Given the description of an element on the screen output the (x, y) to click on. 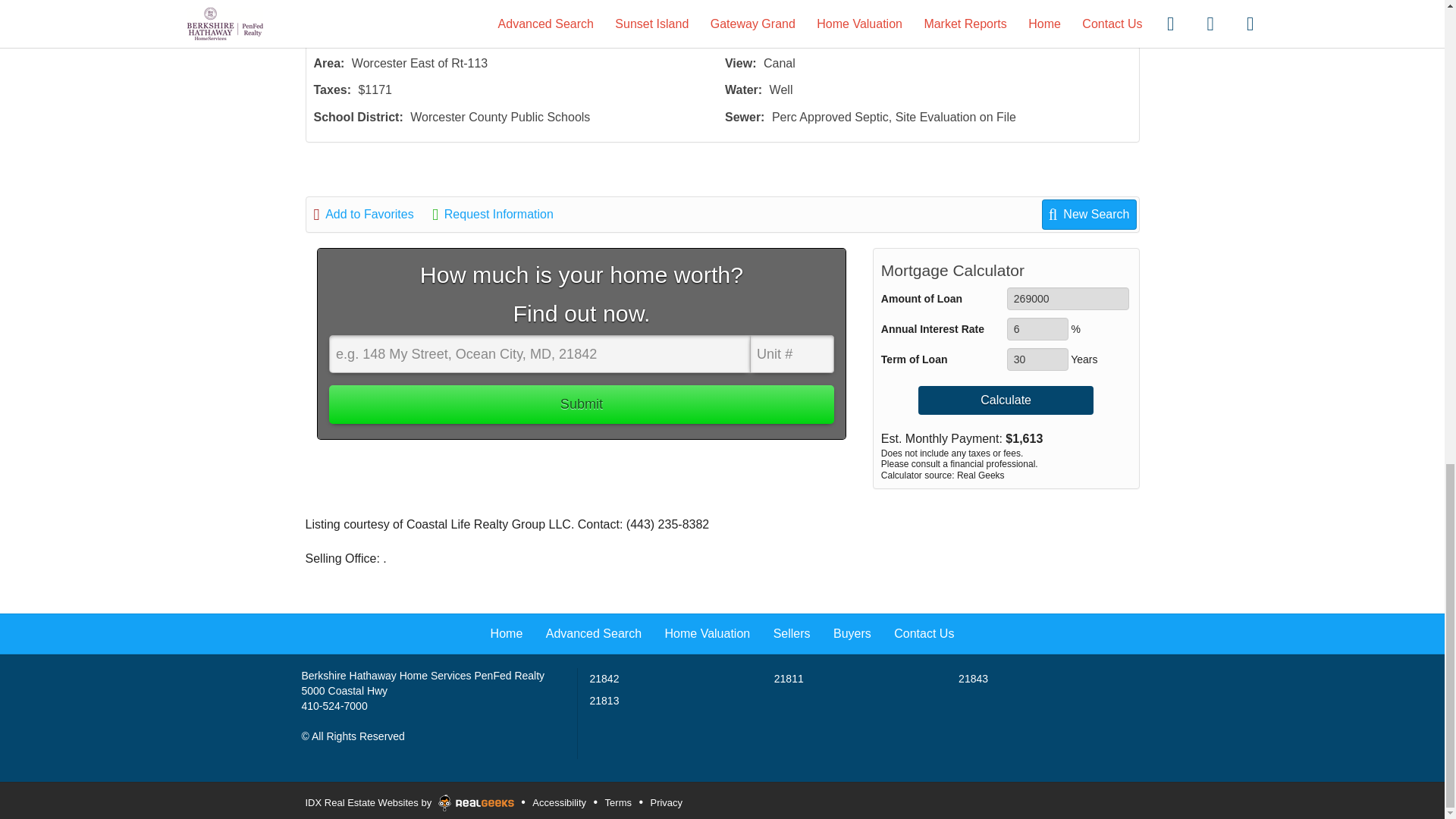
30 (1037, 359)
6 (1037, 328)
269000 (1068, 298)
